Given the description of an element on the screen output the (x, y) to click on. 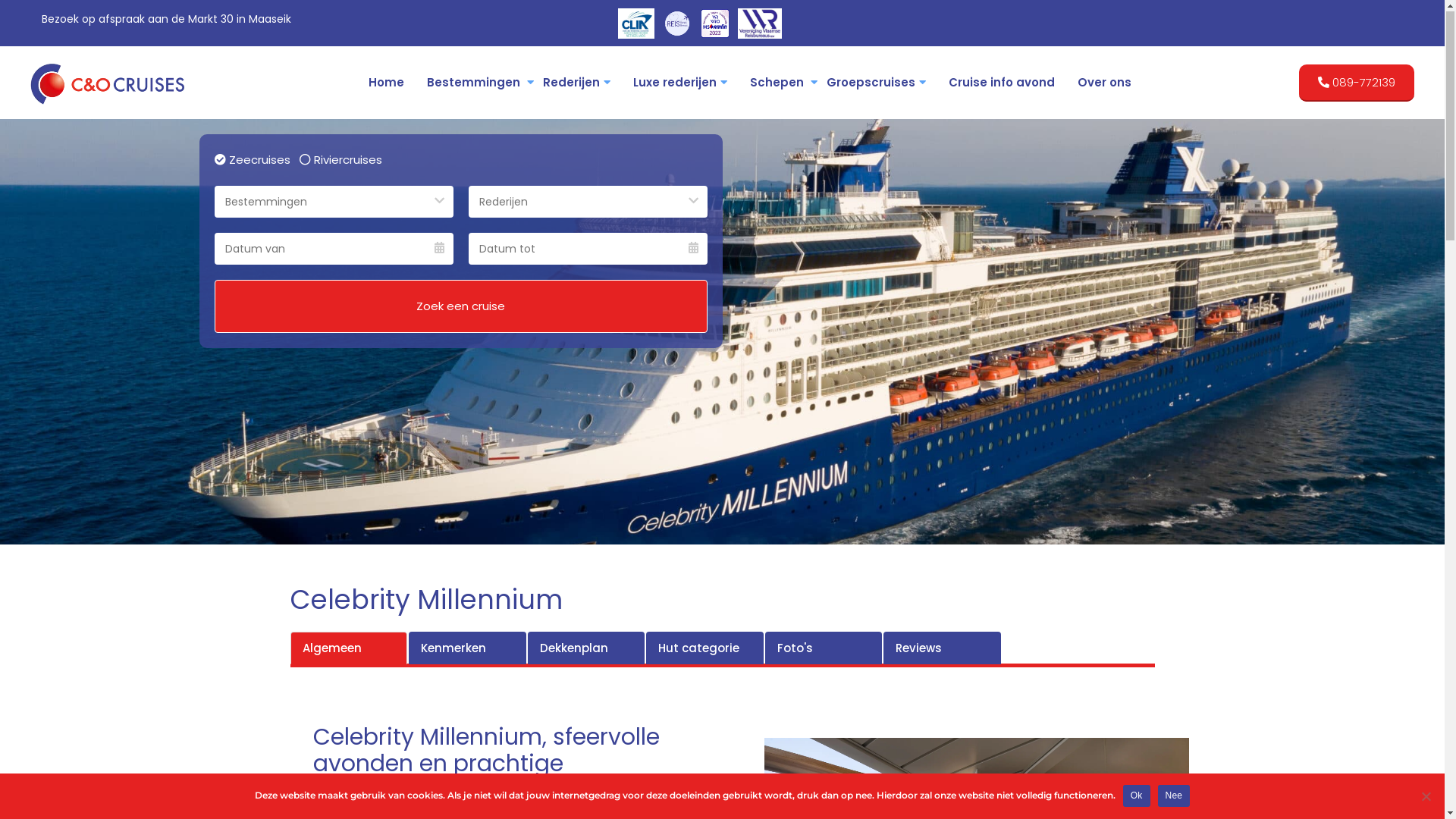
Bestemmingen Element type: text (473, 83)
Algemeen Element type: text (348, 648)
Groepscruises Element type: text (876, 83)
Nee Element type: hover (1425, 796)
Dekkenplan Element type: text (586, 648)
Luxe rederijen Element type: text (679, 83)
Nee Element type: text (1173, 796)
Schepen Element type: text (776, 83)
Foto's Element type: text (823, 648)
Reviews Element type: text (942, 648)
Ok Element type: text (1136, 796)
Zoek een cruise Element type: text (459, 306)
Over ons Element type: text (1104, 83)
Rederijen Element type: text (576, 83)
Kenmerken Element type: text (467, 648)
Home Element type: text (386, 83)
089-772139 Element type: text (1356, 83)
Cruise info avond Element type: text (1001, 83)
Hut categorie Element type: text (704, 648)
